Given the description of an element on the screen output the (x, y) to click on. 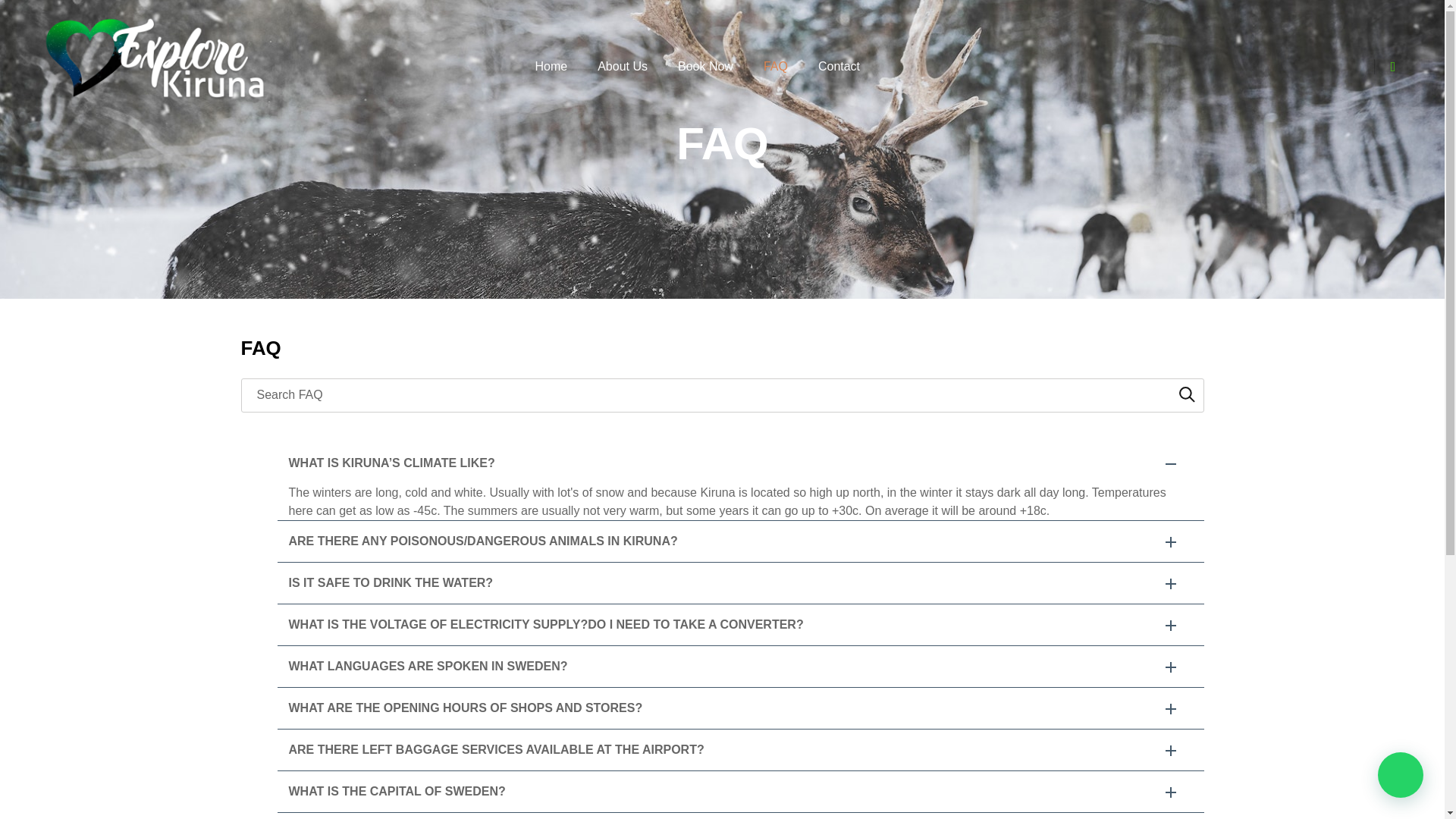
FAQ (775, 66)
Home (550, 66)
Book Now (705, 66)
Contact (839, 66)
About Us (622, 66)
